Given the description of an element on the screen output the (x, y) to click on. 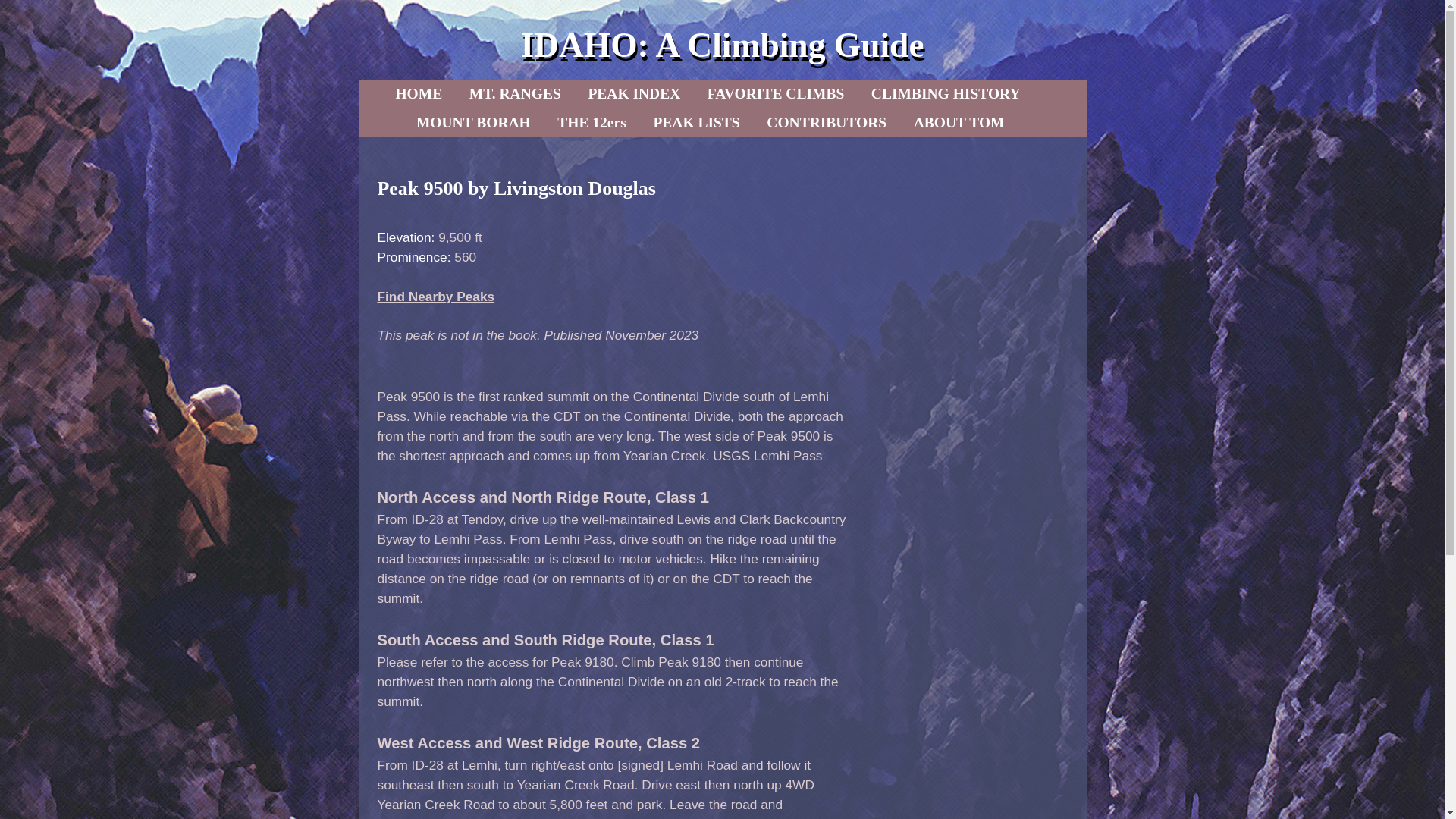
FAVORITE CLIMBS (775, 93)
ABOUT TOM (958, 122)
MT. RANGES (515, 93)
THE 12ers (591, 122)
CLIMBING HISTORY (945, 93)
MOUNT BORAH (473, 122)
PEAK INDEX (633, 93)
HOME (418, 93)
Skip to secondary content (463, 93)
Skip to primary content (457, 93)
